Given the description of an element on the screen output the (x, y) to click on. 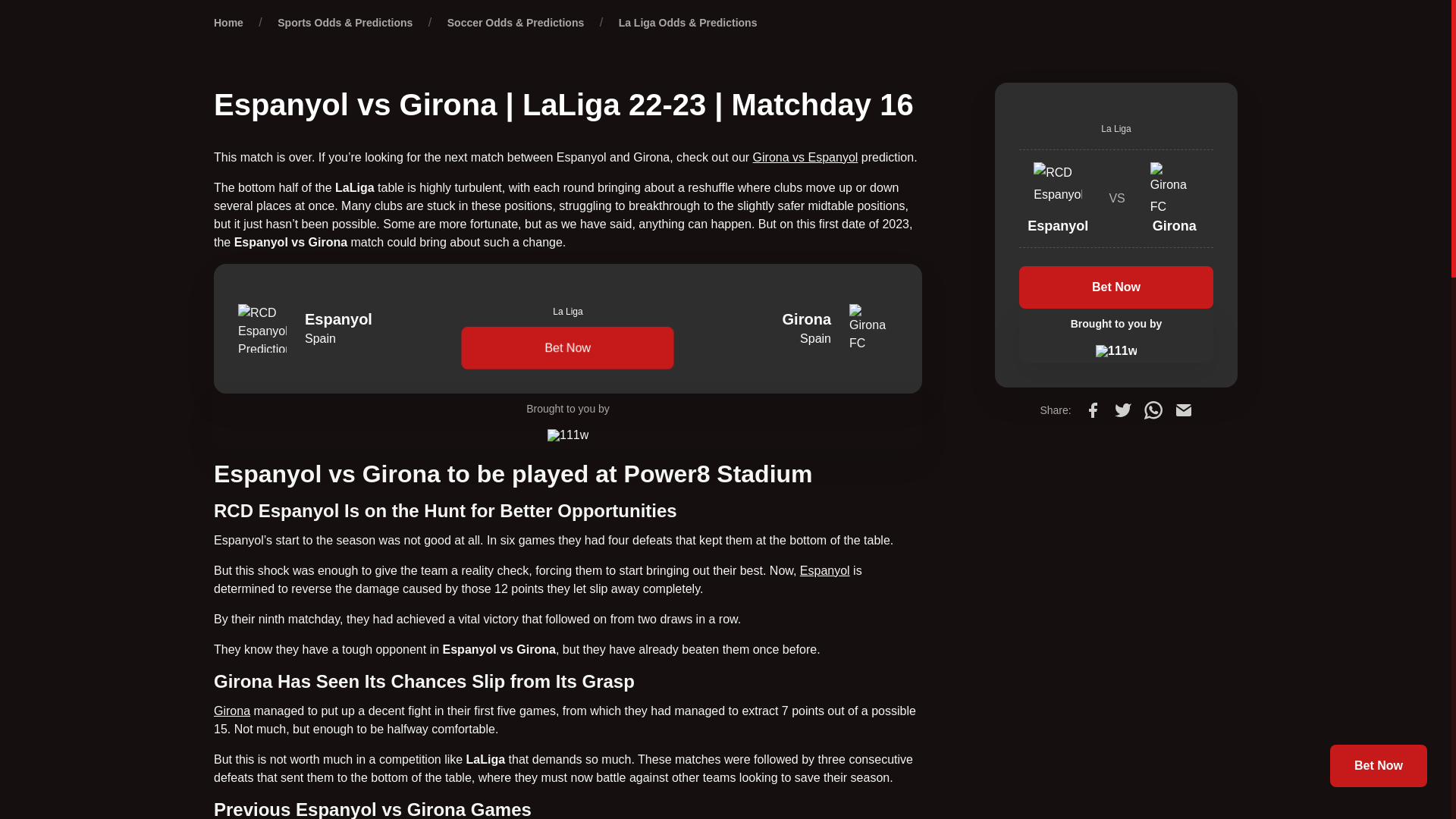
Home (228, 22)
Twitter (1122, 409)
Facebook (1092, 409)
Girona vs Espanyol Predictions (805, 156)
Espanyol Twitter (824, 570)
Brought to you by (567, 420)
Girona Site (232, 710)
Bet Now (568, 347)
WhatsApp (1152, 409)
Girona vs Espanyol (805, 156)
